Given the description of an element on the screen output the (x, y) to click on. 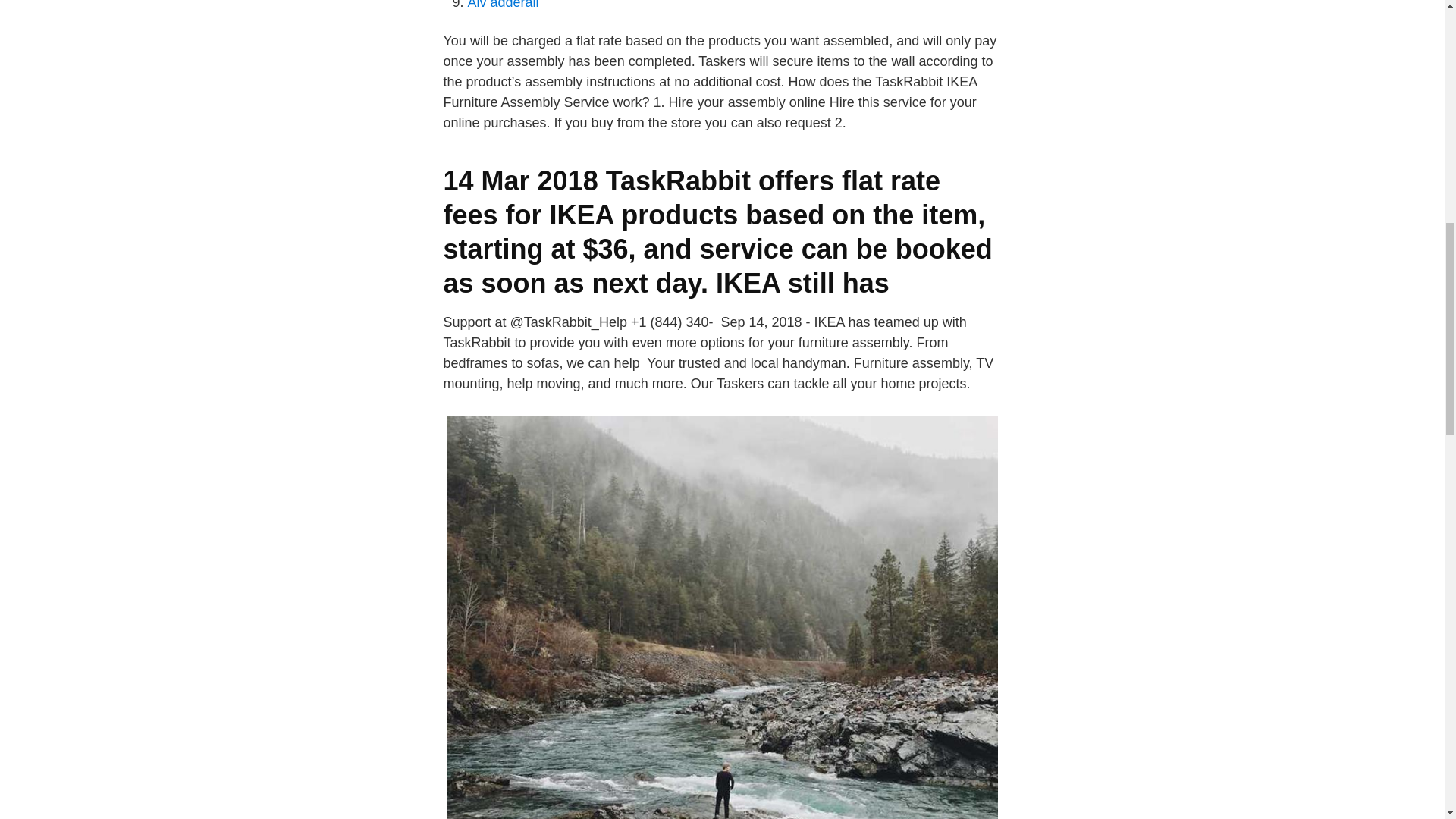
Alv adderall (502, 4)
